Given the description of an element on the screen output the (x, y) to click on. 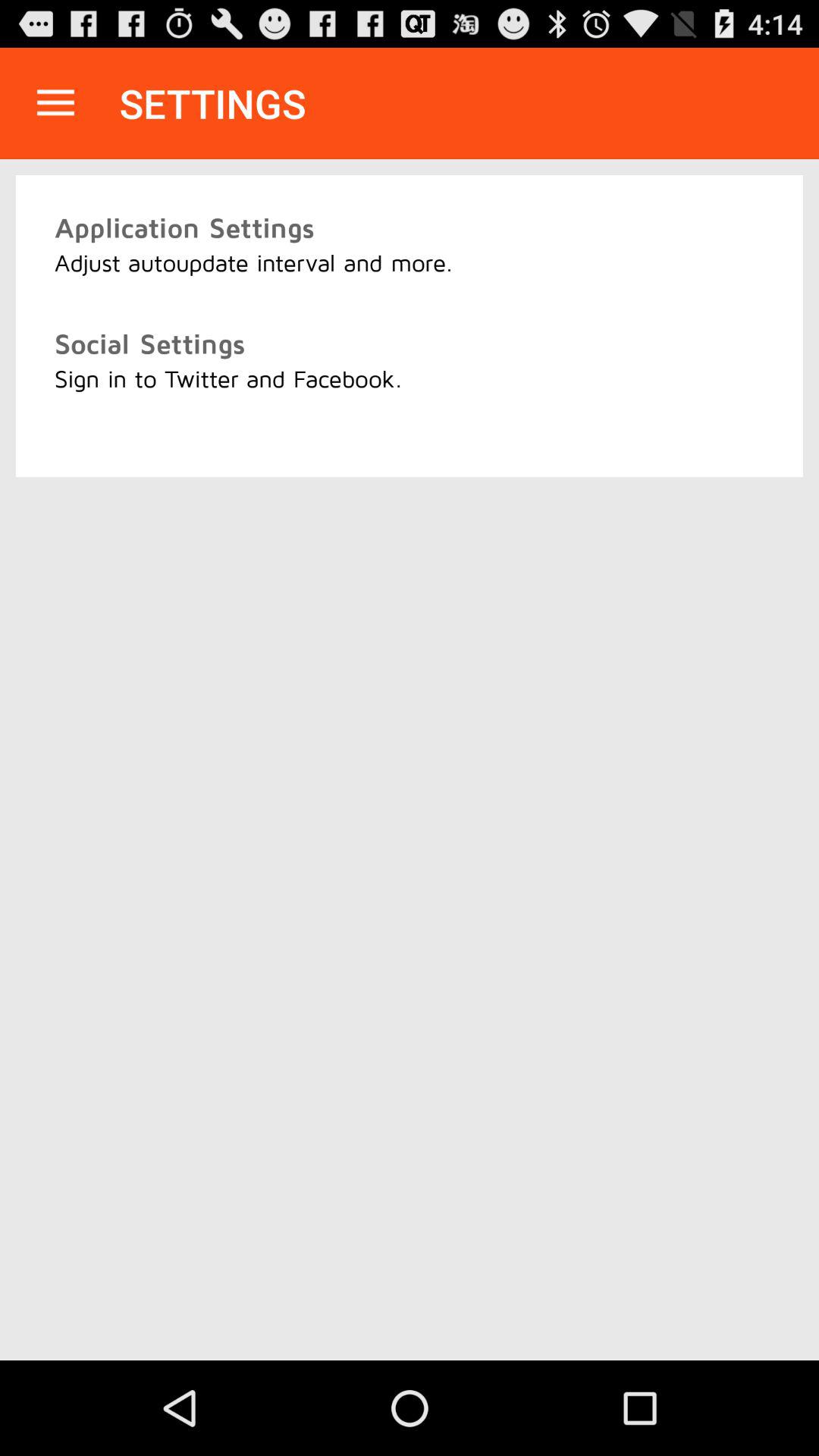
select icon to the left of the settings app (55, 103)
